Given the description of an element on the screen output the (x, y) to click on. 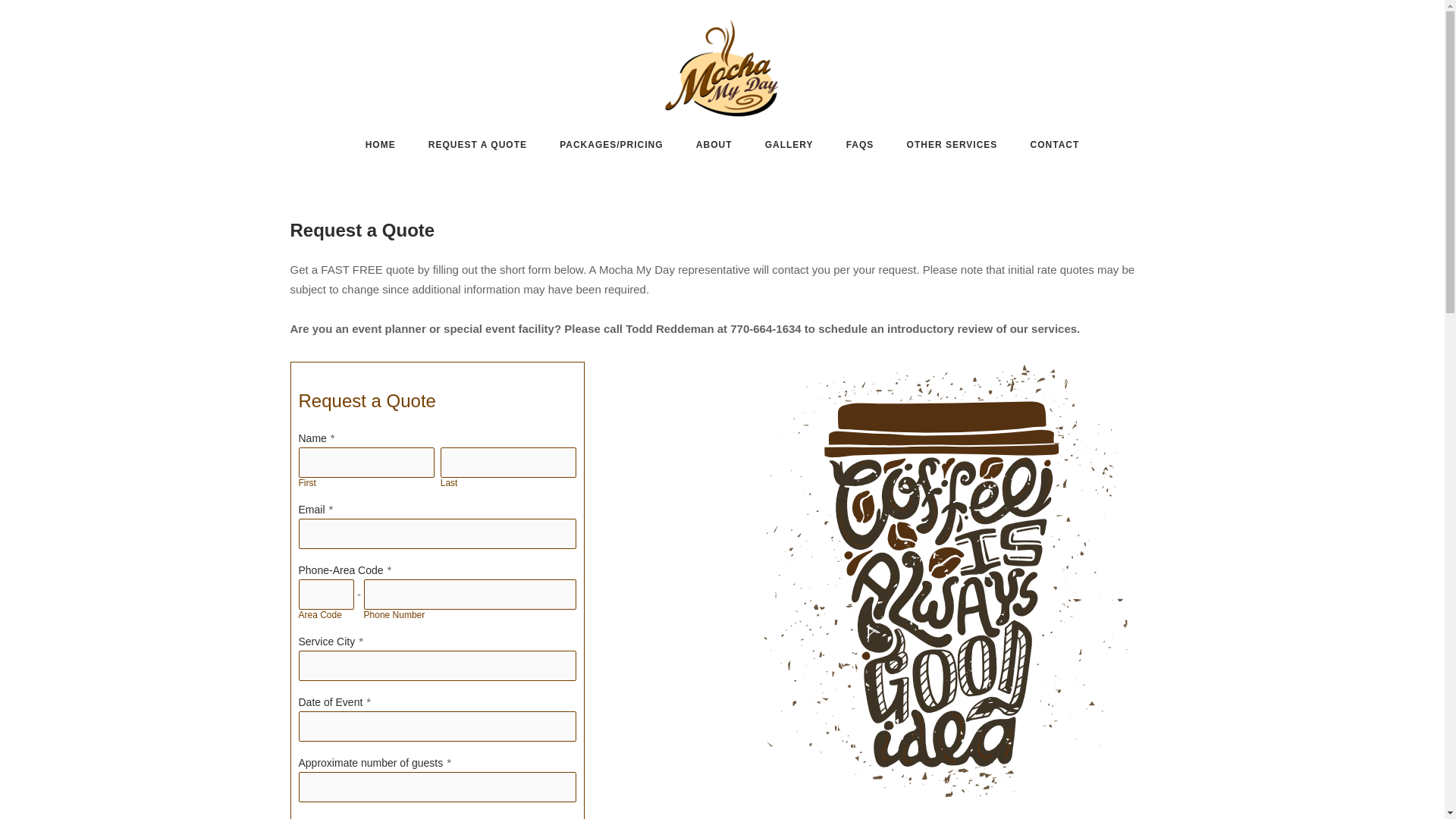
HOME (380, 147)
ABOUT (713, 147)
REQUEST A QUOTE (477, 147)
GALLERY (789, 147)
OTHER SERVICES (952, 146)
FAQS (860, 147)
CONTACT (1055, 147)
